Given the description of an element on the screen output the (x, y) to click on. 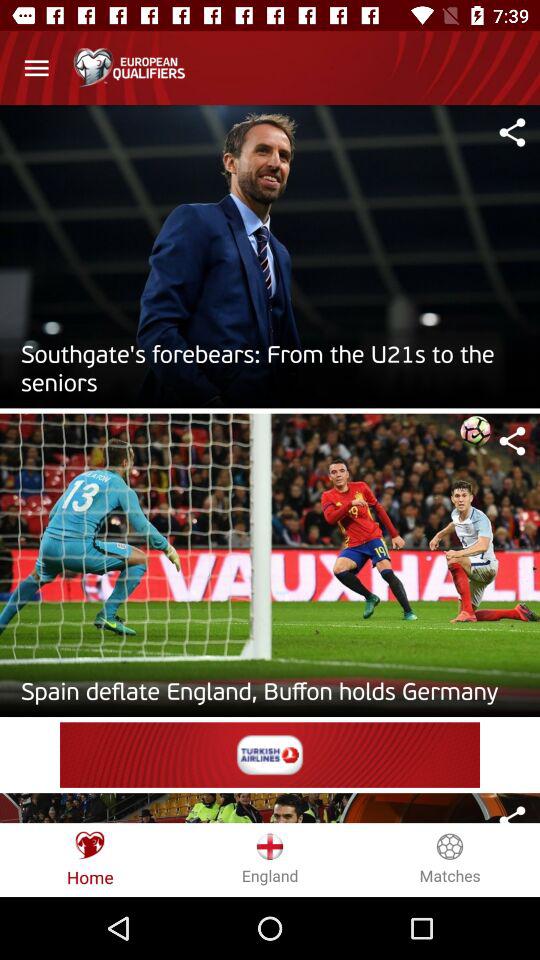
sharing button (512, 813)
